Given the description of an element on the screen output the (x, y) to click on. 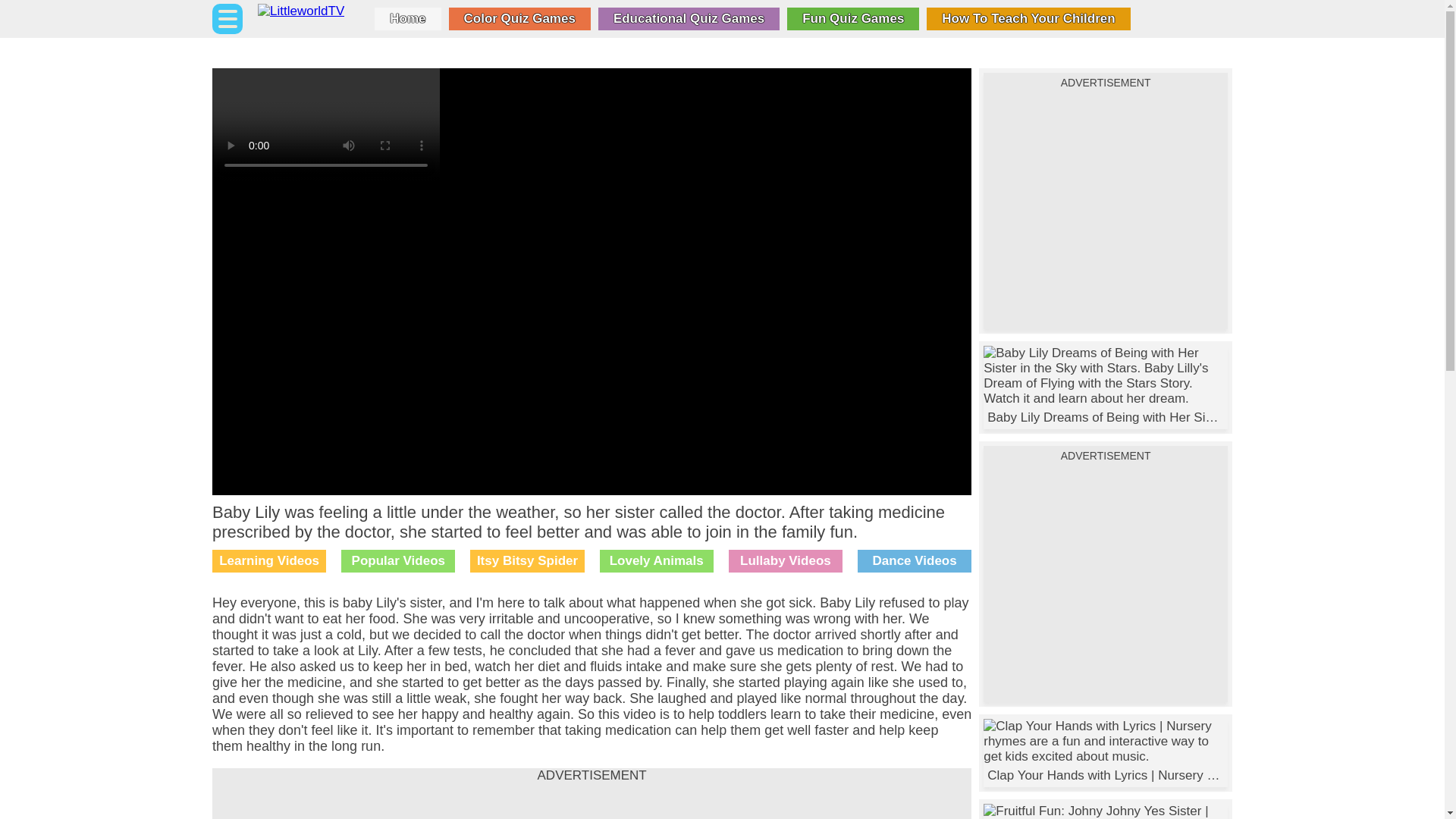
Popular Videos (397, 560)
Lovely Animals (656, 560)
Educational Quiz Games (688, 18)
Home (407, 18)
Fun Quiz Games (853, 18)
Itsy Bitsy Spider (526, 560)
Color Quiz Games (519, 18)
Dance Videos (914, 560)
How To Teach Your Children (1028, 18)
Learning Videos (269, 560)
Lullaby Videos (786, 560)
